Given the description of an element on the screen output the (x, y) to click on. 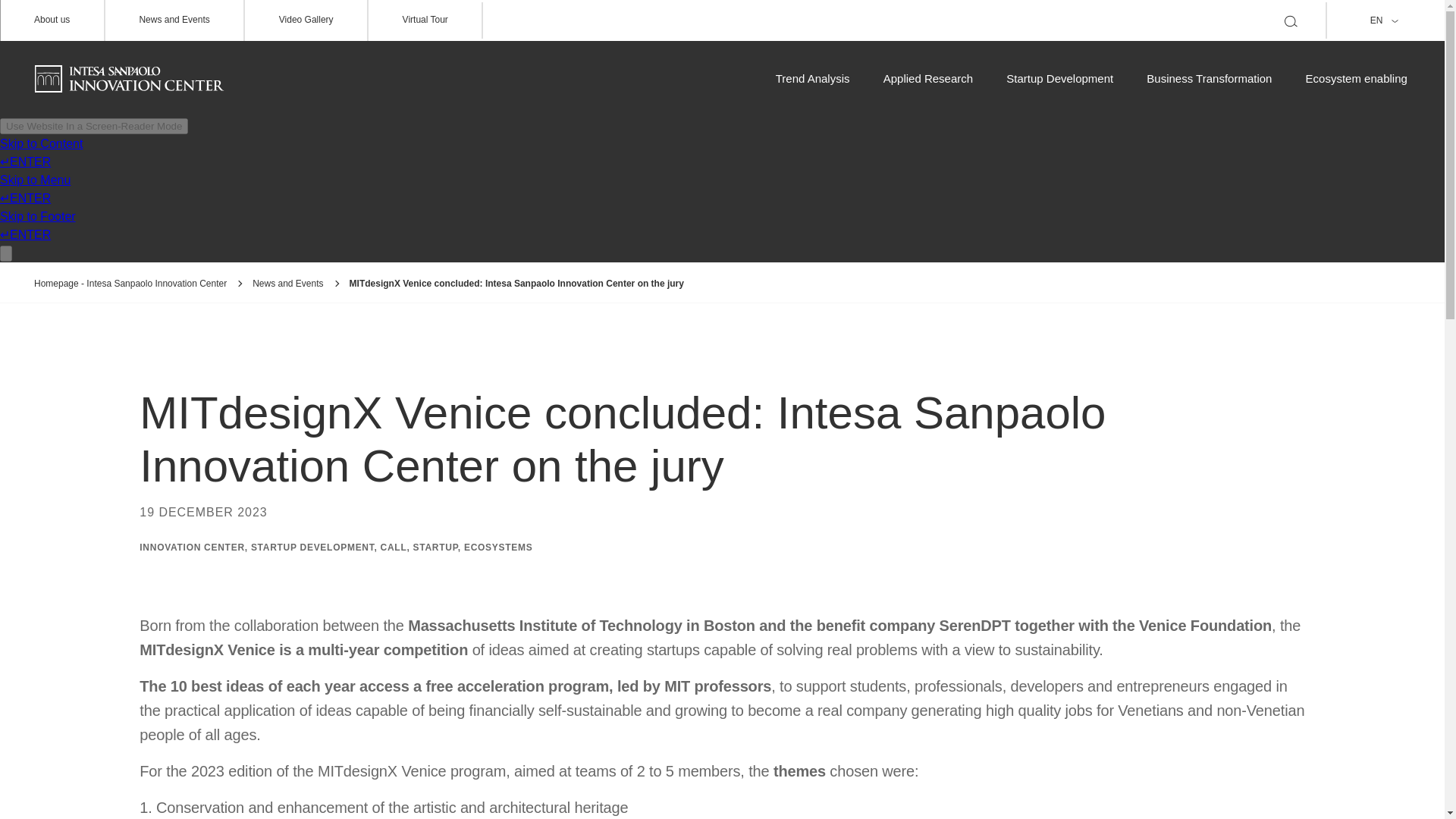
Homepage - Intesa Sanpaolo Innovation Center (142, 283)
Startup Development  (1061, 78)
News and Events (300, 283)
video (306, 20)
Video Gallery (306, 20)
News and Events (173, 20)
Trend Analysis  (814, 78)
About us (51, 20)
Applied Research  (929, 78)
